Given the description of an element on the screen output the (x, y) to click on. 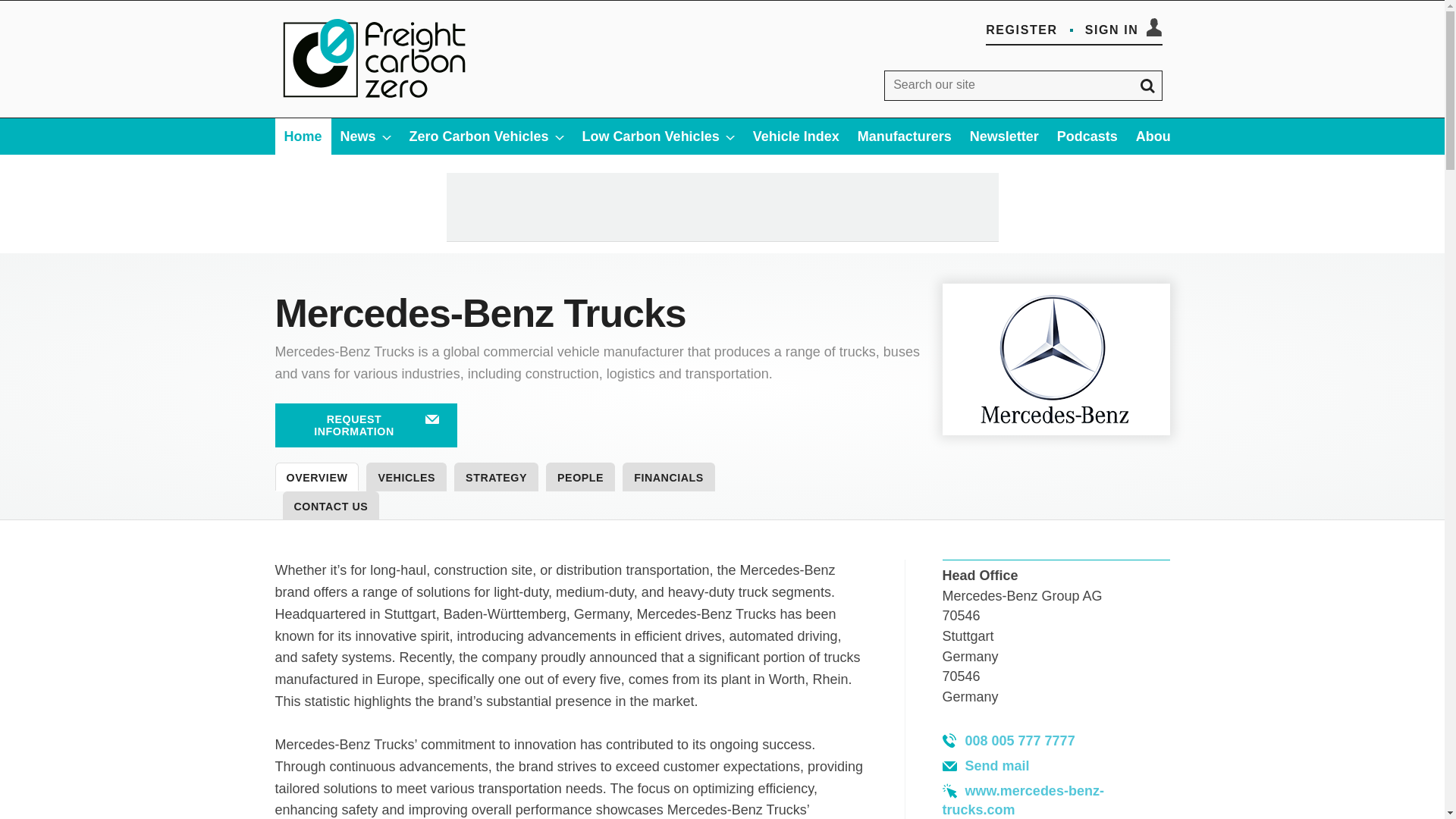
Site name (374, 102)
Home (302, 135)
SIGN IN (1122, 29)
News (365, 135)
SEARCH (1146, 85)
3rd party ad content (721, 206)
REGISTER (1021, 29)
